Given the description of an element on the screen output the (x, y) to click on. 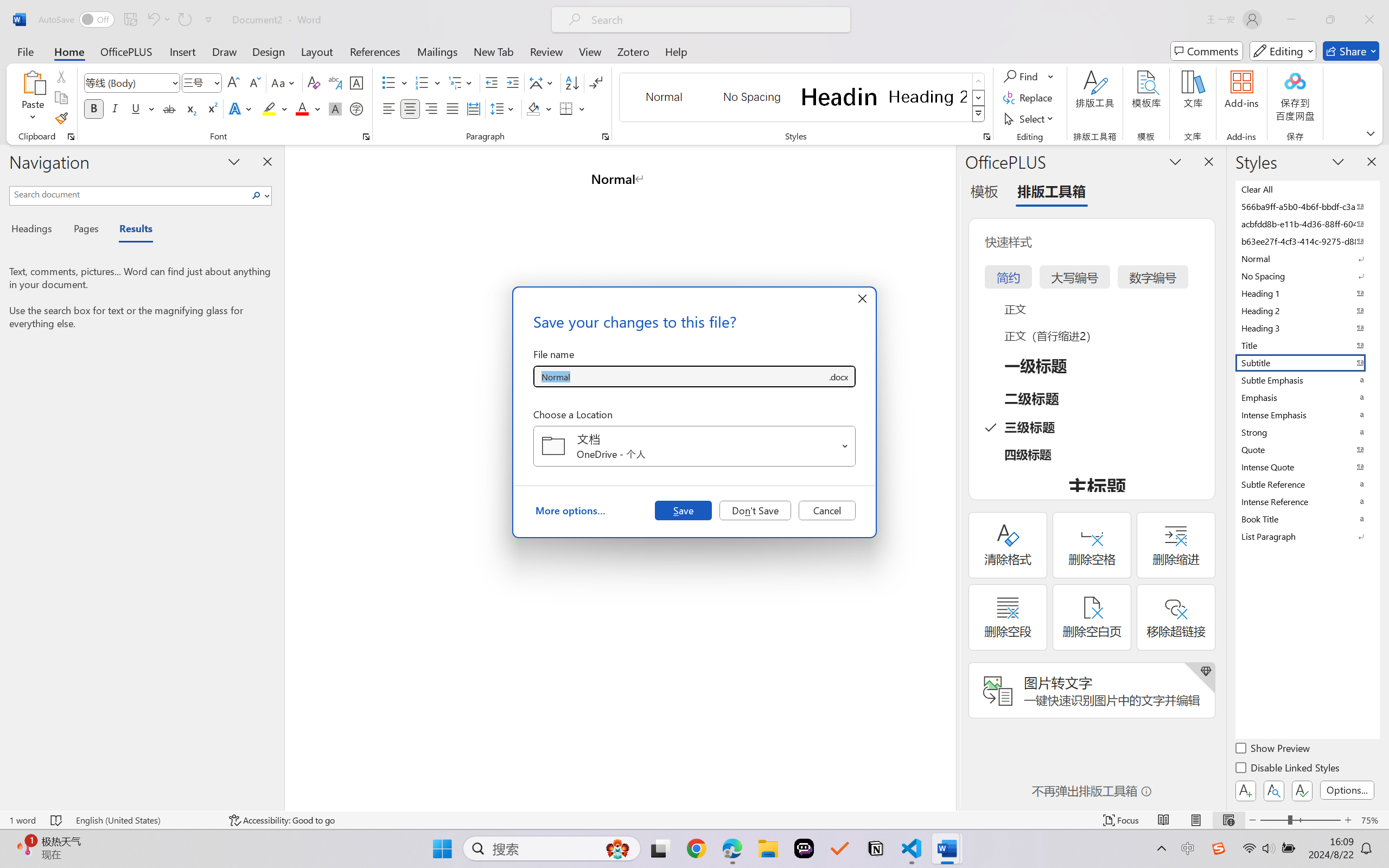
Font... (365, 136)
Disable Linked Styles (1287, 769)
Cancel (826, 509)
Copy (60, 97)
Underline (142, 108)
Row Down (978, 97)
Strikethrough (169, 108)
Intense Reference (1306, 501)
AutoSave (76, 19)
Paste (33, 81)
Clear Formatting (313, 82)
